Given the description of an element on the screen output the (x, y) to click on. 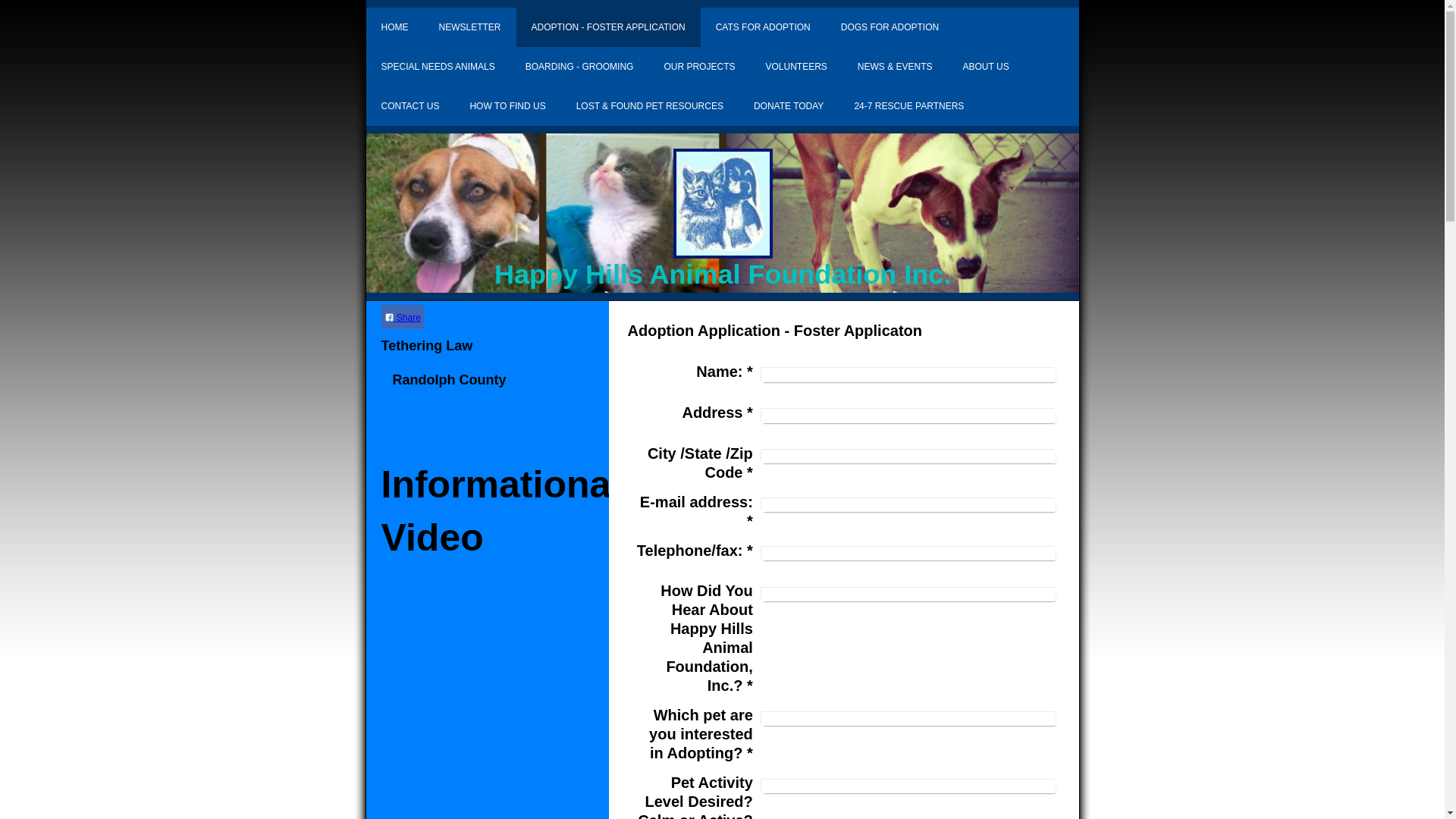
Share (401, 316)
DOGS FOR ADOPTION (889, 26)
ABOUT US (986, 66)
NEWSLETTER (469, 26)
SPECIAL NEEDS ANIMALS (437, 66)
24-7 RESCUE PARTNERS (908, 106)
CONTACT US (409, 106)
BOARDING - GROOMING (580, 66)
HOME (394, 26)
CATS FOR ADOPTION (762, 26)
